Given the description of an element on the screen output the (x, y) to click on. 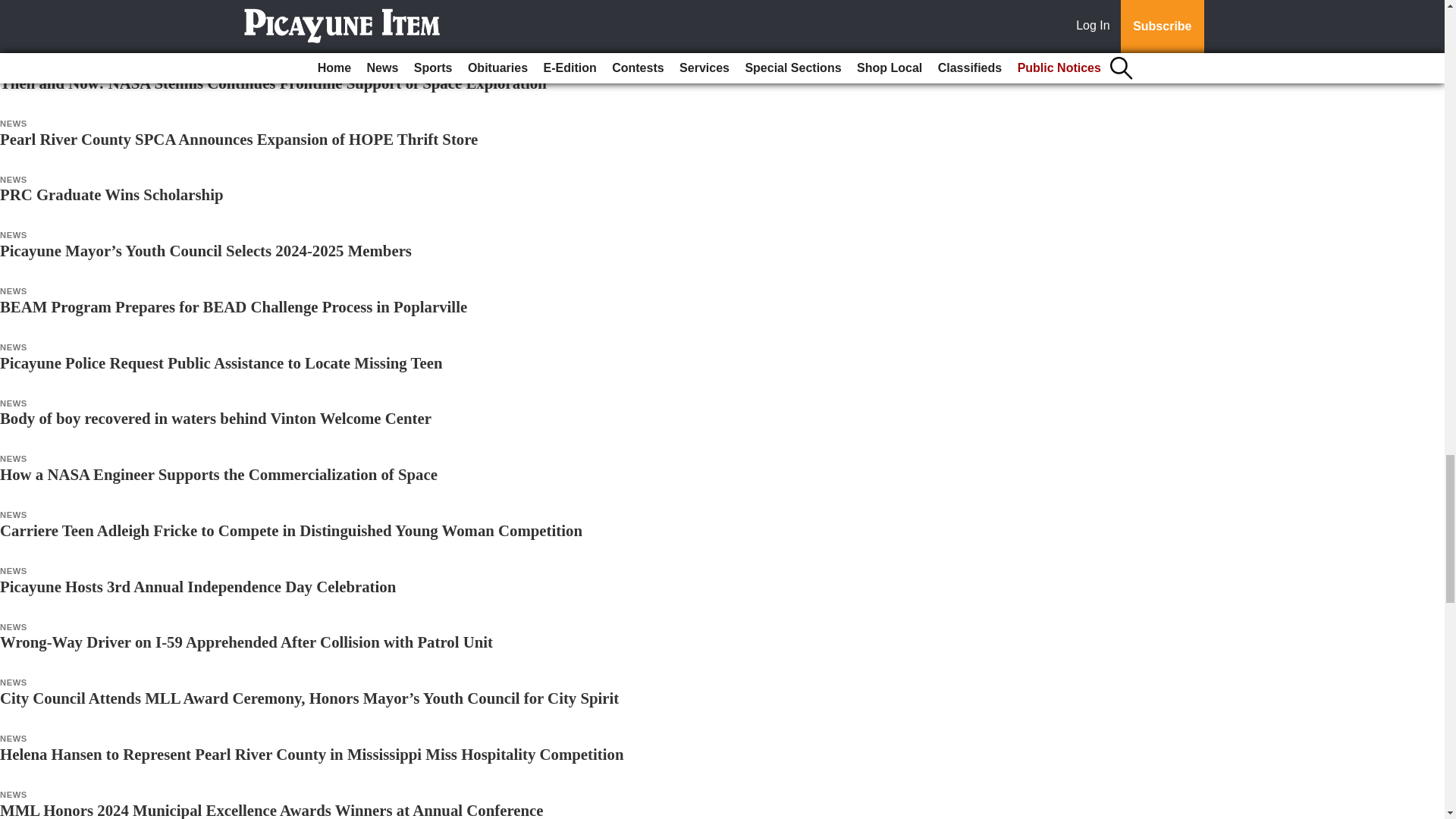
Picayune Hosts 3rd Annual Independence Day Celebration (198, 586)
Body of boy recovered in waters behind Vinton Welcome Center (215, 417)
How a NASA Engineer Supports the Commercialization of Space (219, 474)
PRC Graduate Wins Scholarship (112, 194)
